Given the description of an element on the screen output the (x, y) to click on. 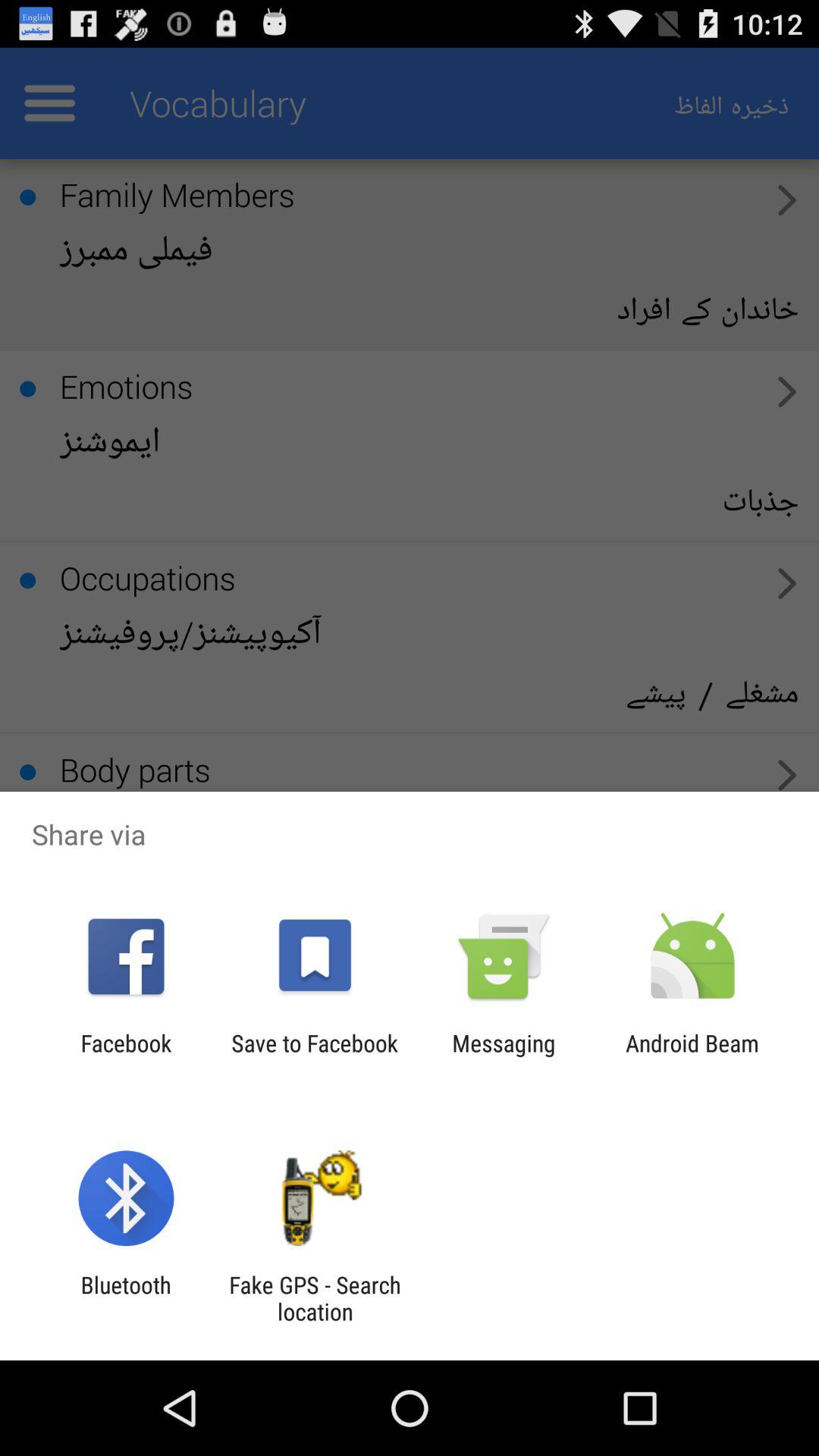
click the item next to save to facebook item (503, 1056)
